Given the description of an element on the screen output the (x, y) to click on. 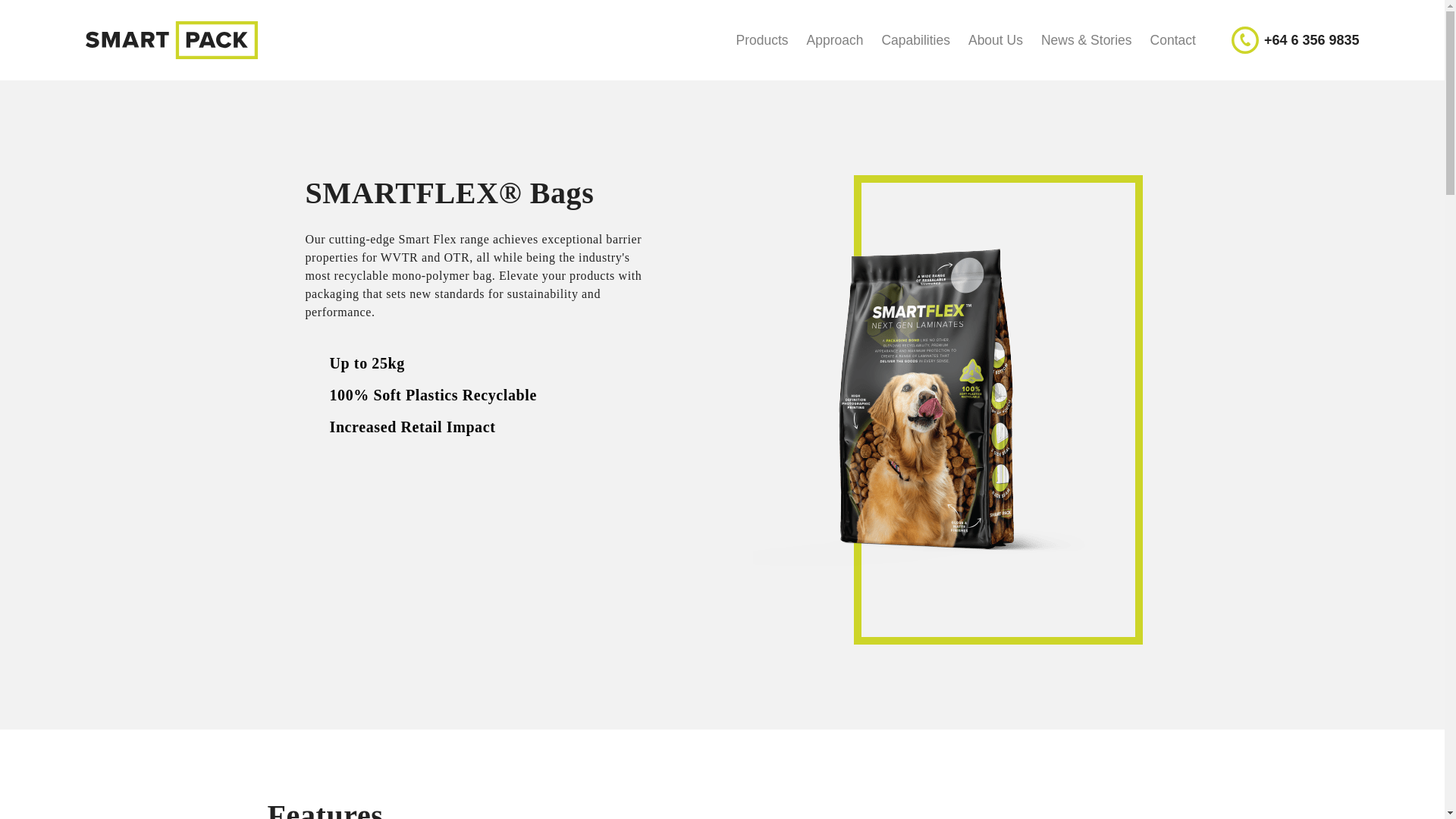
Capabilities (915, 39)
Approach (834, 39)
Contact (1173, 39)
Products (761, 39)
About Us (995, 39)
